Given the description of an element on the screen output the (x, y) to click on. 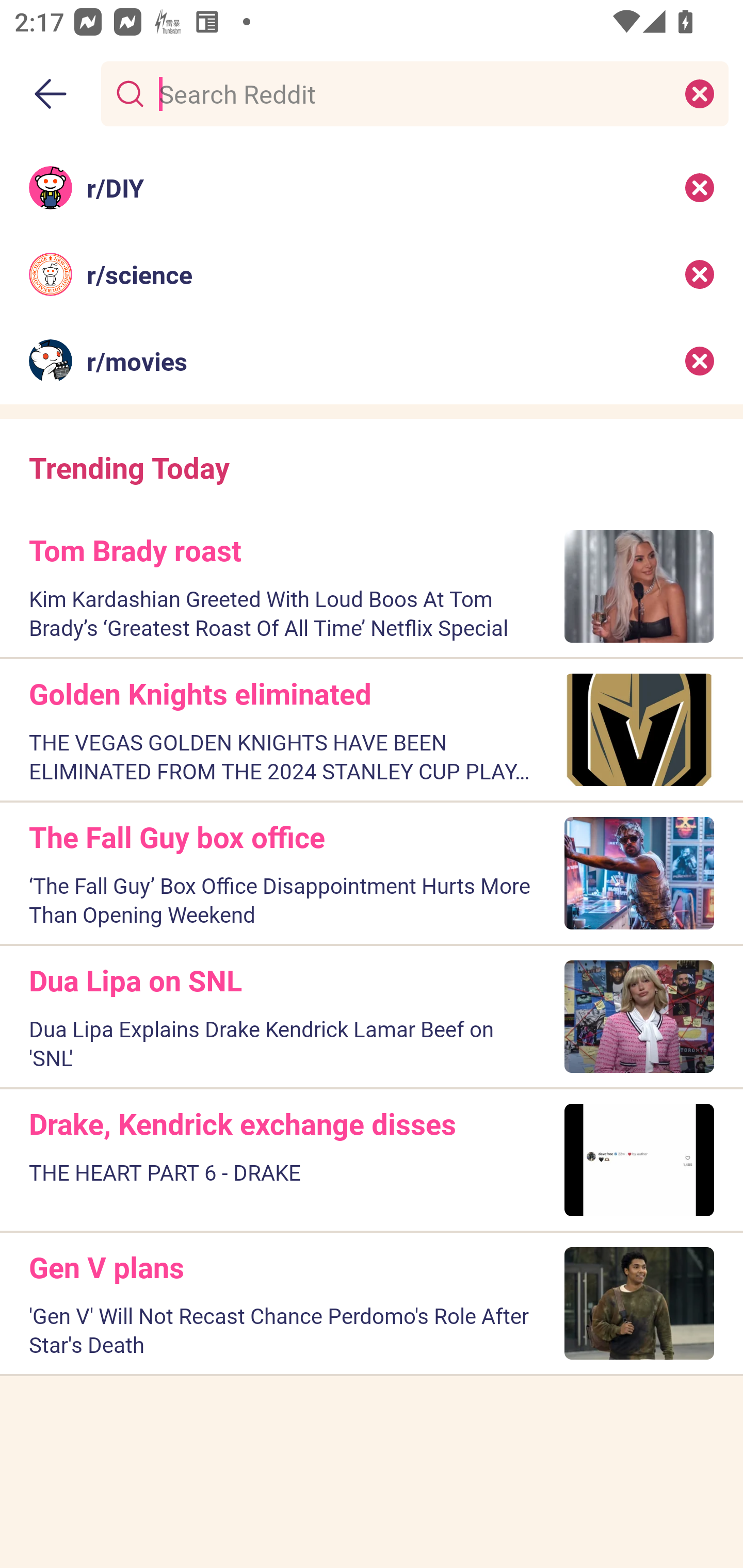
Back (50, 93)
Search Reddit (410, 93)
Clear search (699, 93)
r/DIY Recent search: r/DIY Remove (371, 187)
Remove (699, 187)
r/science Recent search: r/science Remove (371, 274)
Remove (699, 274)
r/movies Recent search: r/movies Remove (371, 361)
Remove (699, 361)
